Given the description of an element on the screen output the (x, y) to click on. 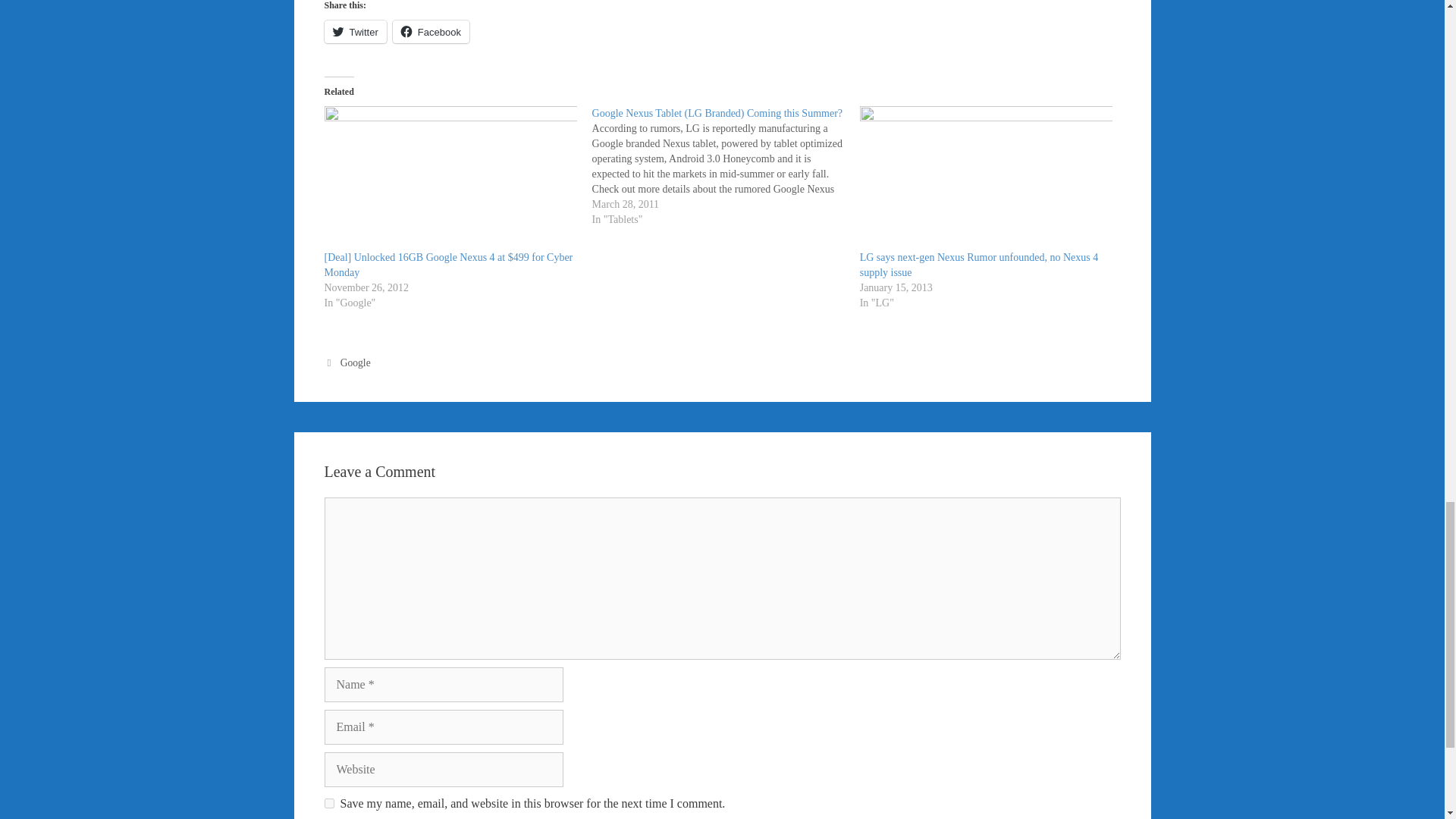
Click to share on Twitter (355, 31)
Twitter (355, 31)
yes (329, 803)
Facebook (430, 31)
Google (355, 362)
Click to share on Facebook (430, 31)
